Given the description of an element on the screen output the (x, y) to click on. 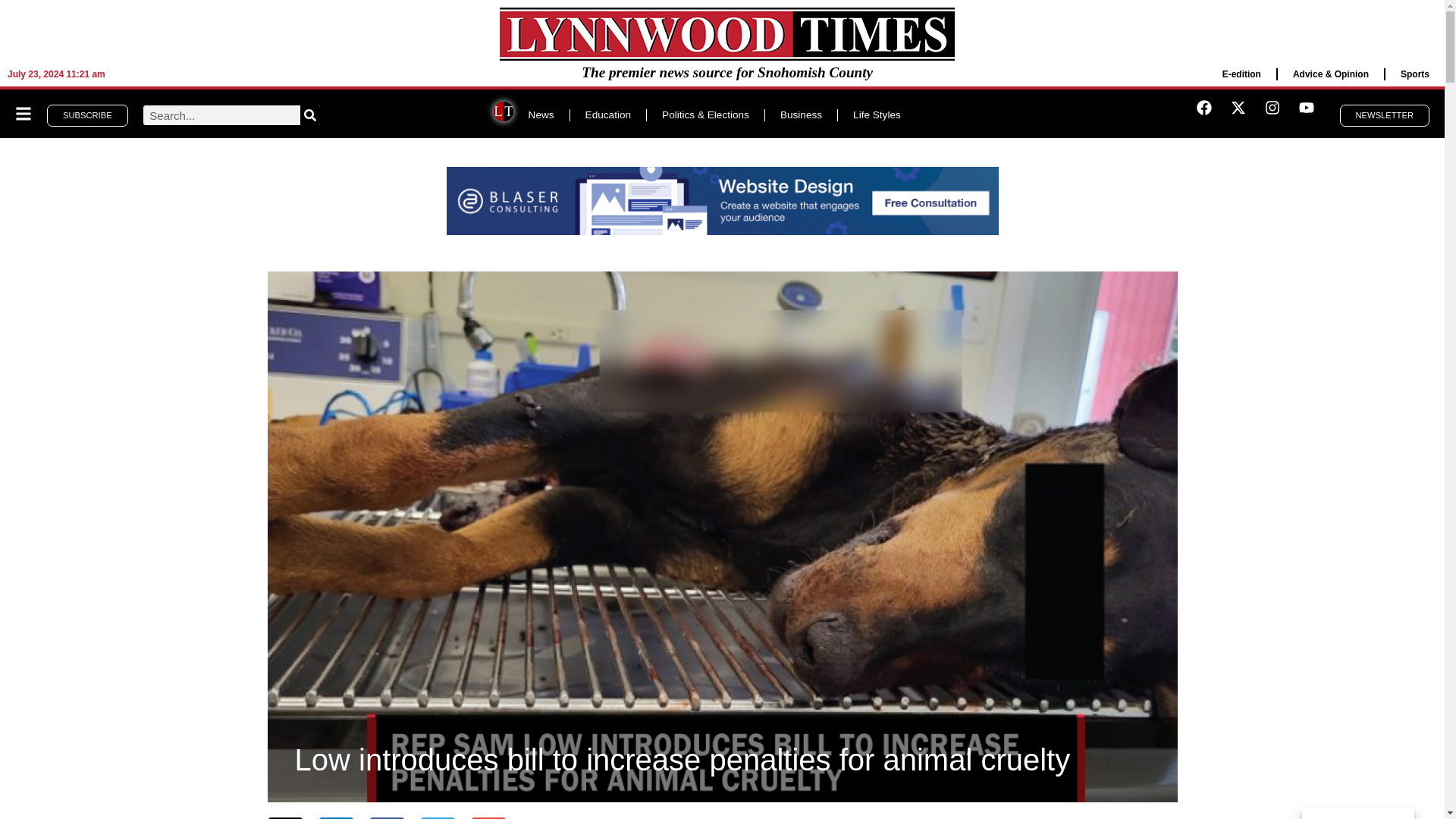
NEWSLETTER (1384, 115)
Business (801, 114)
Life Styles (876, 114)
E-edition (1241, 73)
News (541, 114)
SUBSCRIBE (87, 115)
Education (608, 114)
